Given the description of an element on the screen output the (x, y) to click on. 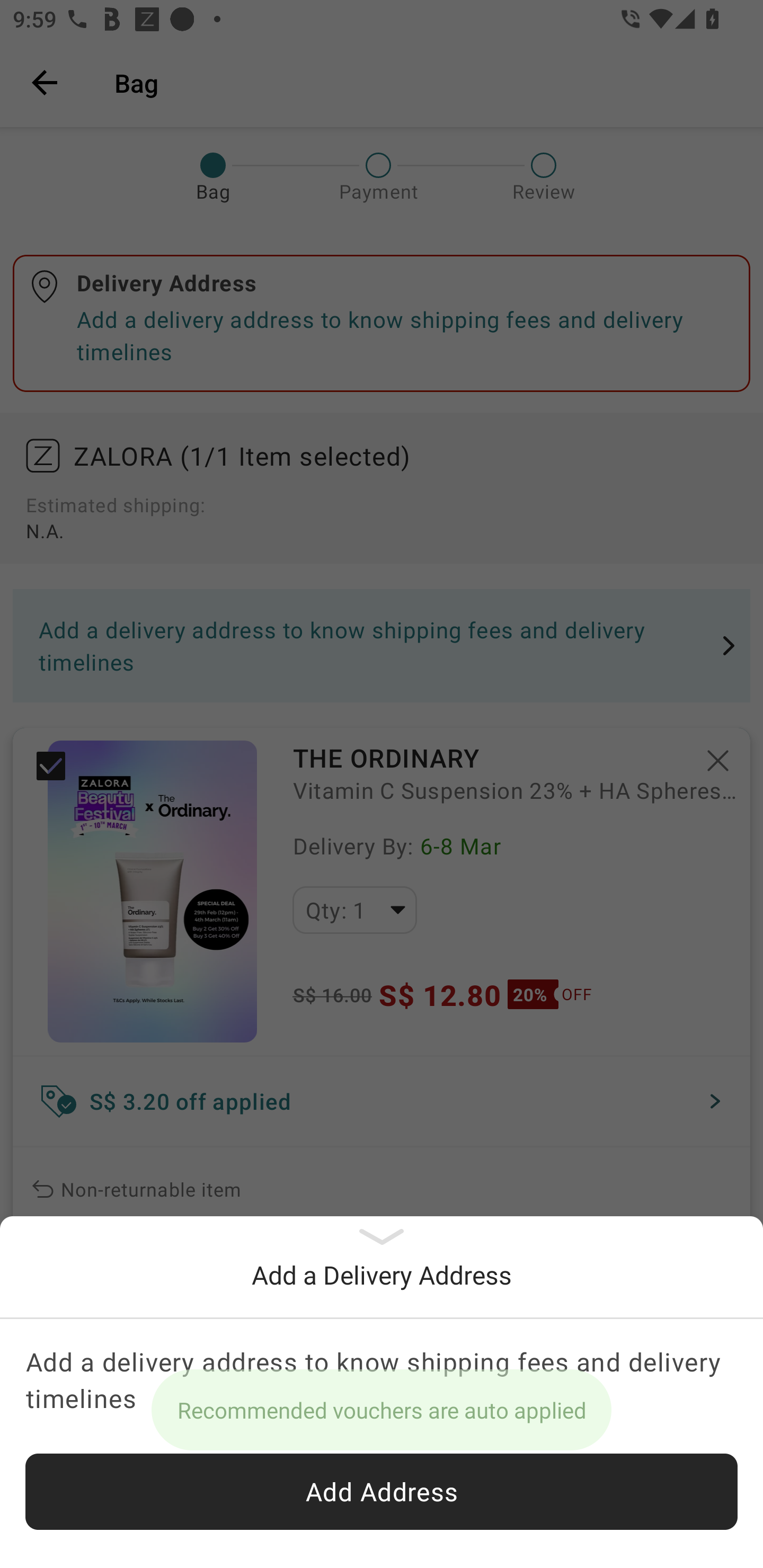
Add Address (381, 1491)
